Given the description of an element on the screen output the (x, y) to click on. 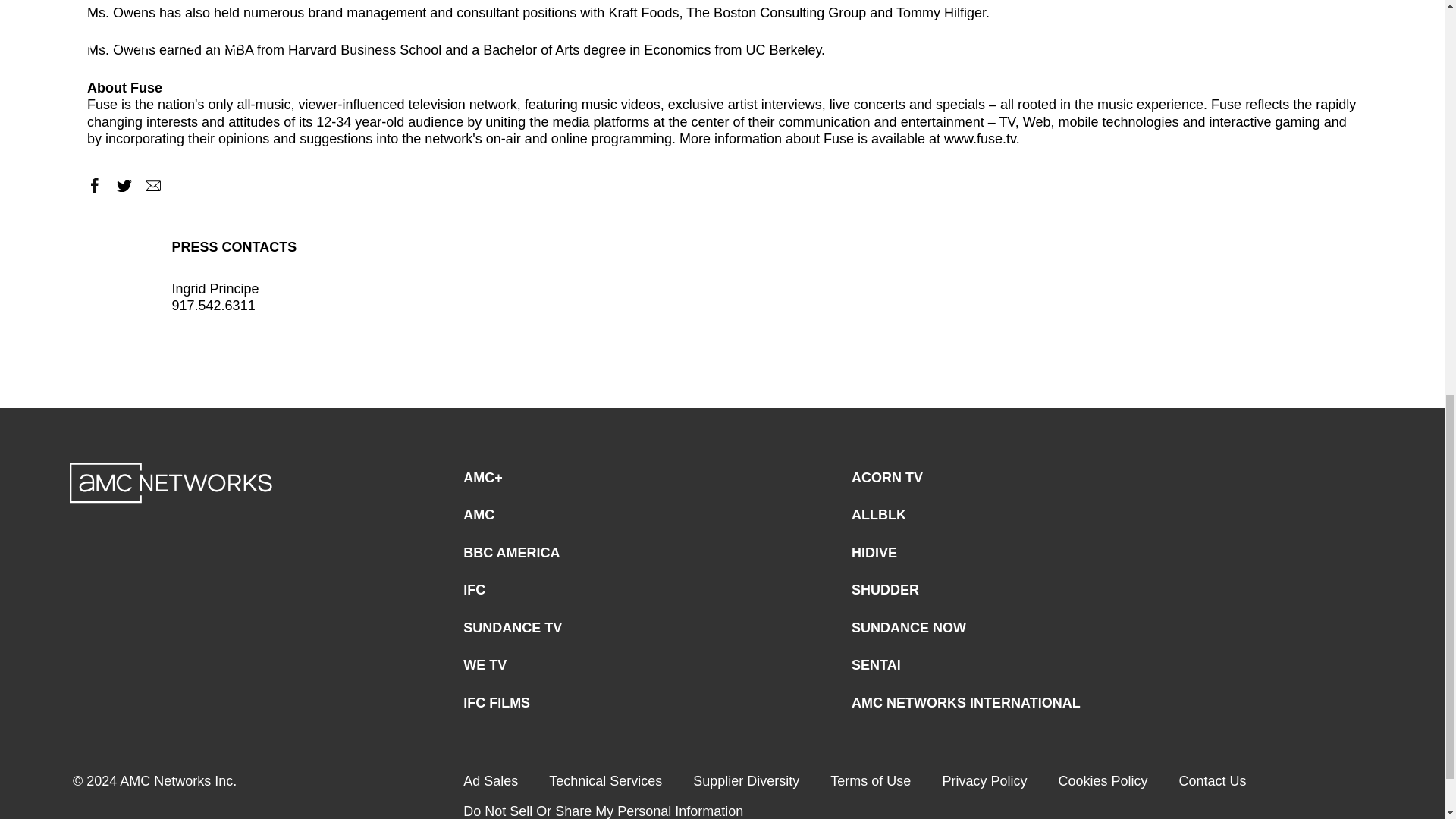
WE TV (484, 665)
SUNDANCE TV (512, 627)
AMC (479, 514)
ALLBLK (878, 514)
www.fuse.tv (979, 138)
ACORN TV (887, 477)
IFC FILMS (496, 703)
AMC Networks (170, 482)
BBC AMERICA (511, 552)
